Given the description of an element on the screen output the (x, y) to click on. 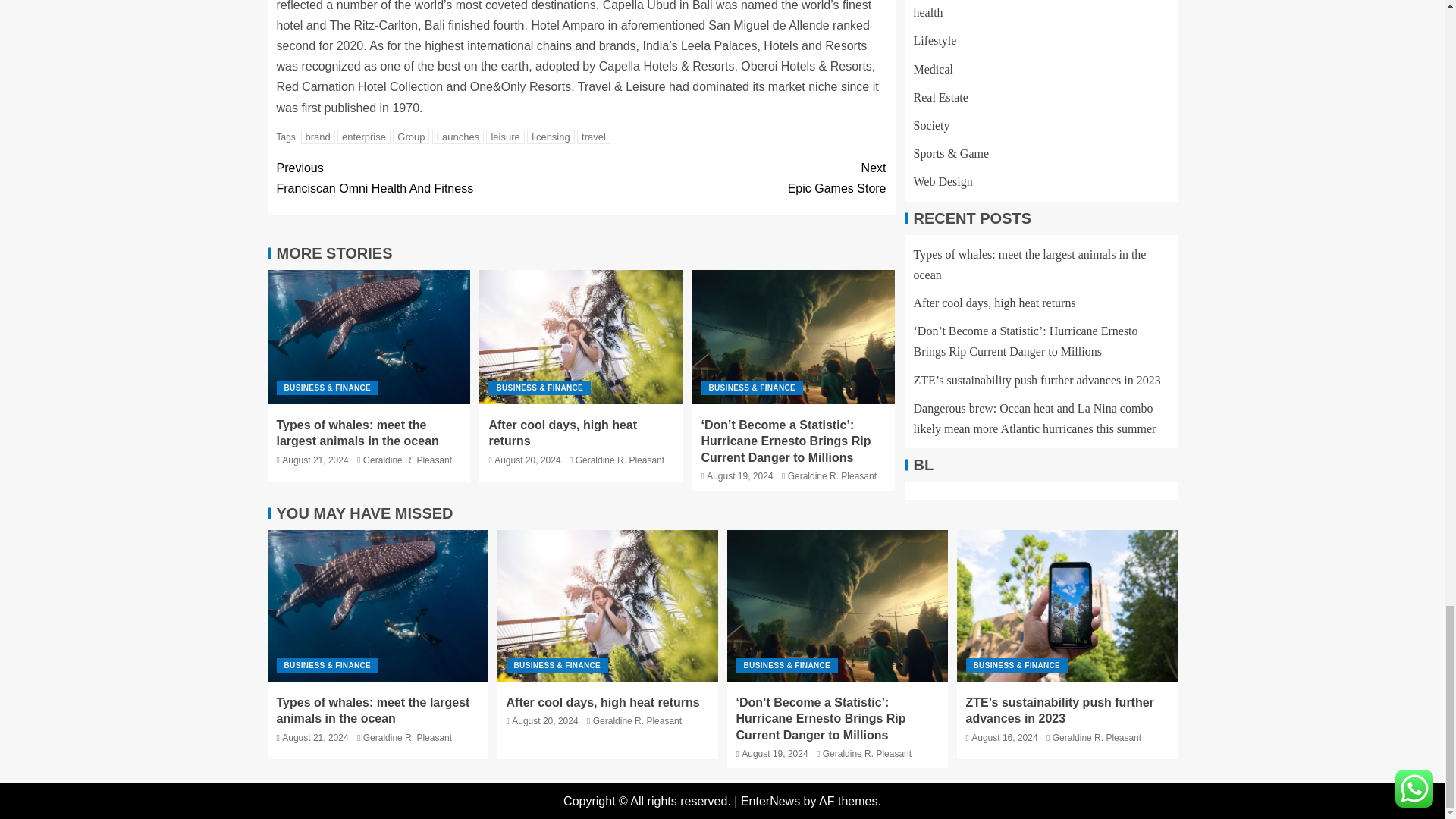
brand (317, 136)
enterprise (363, 136)
After cool days, high heat returns (580, 337)
Types of whales: meet the largest animals in the ocean (368, 337)
Group (411, 136)
